Given the description of an element on the screen output the (x, y) to click on. 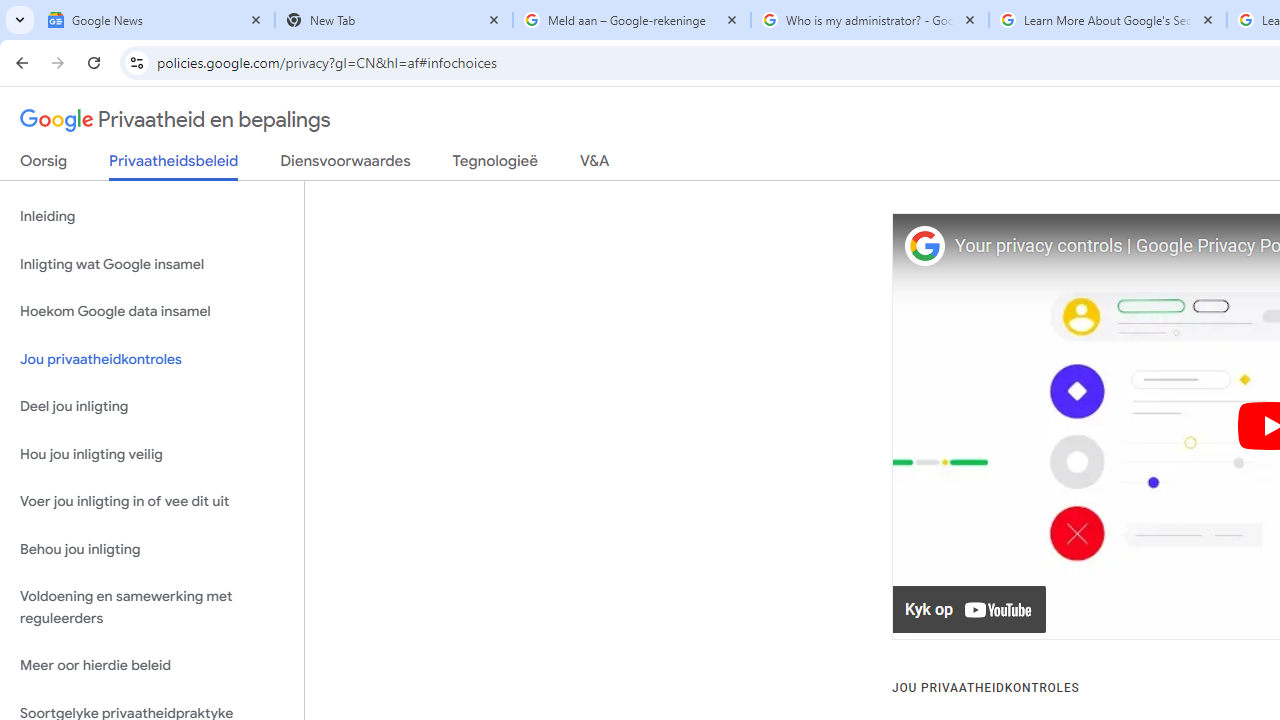
Privaatheidsbeleid (173, 166)
Hoekom Google data insamel (152, 312)
Google News (156, 20)
Privaatheid en bepalings (175, 120)
Kyk op YouTube (970, 610)
Deel jou inligting (152, 407)
Oorsig (43, 165)
